Given the description of an element on the screen output the (x, y) to click on. 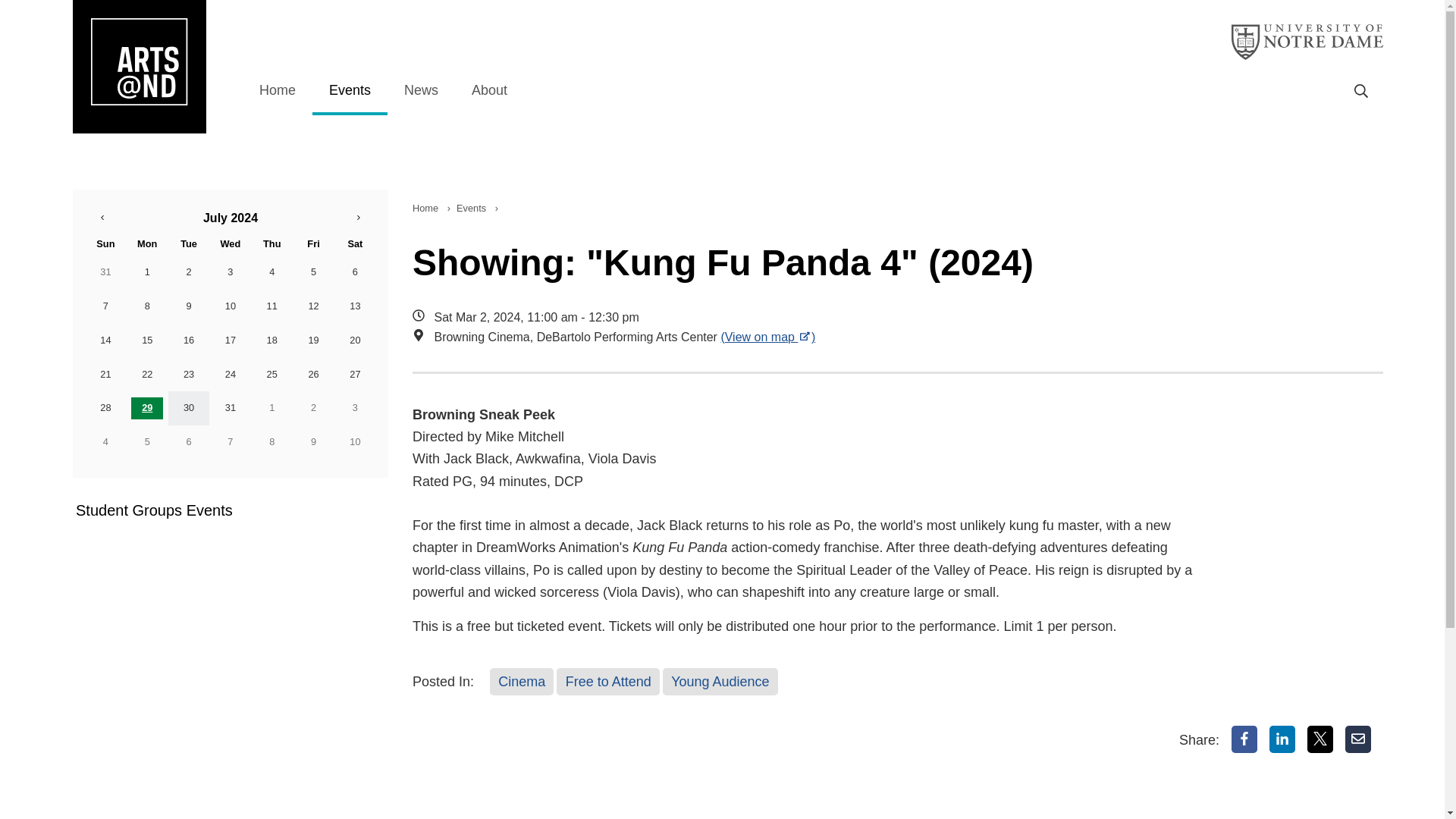
Home (425, 207)
University of Notre Dame (1307, 41)
July 2024 (230, 217)
29 (147, 408)
About (489, 90)
Facebook (1244, 738)
LinkedIn (1282, 738)
News (420, 90)
Arts at ND (138, 66)
Events (470, 207)
Young Audience (719, 681)
Home (278, 90)
Student Groups Events (218, 509)
Sat Mar  2, 2024 11:00 am - 12:30 pm (806, 317)
Events (350, 90)
